Given the description of an element on the screen output the (x, y) to click on. 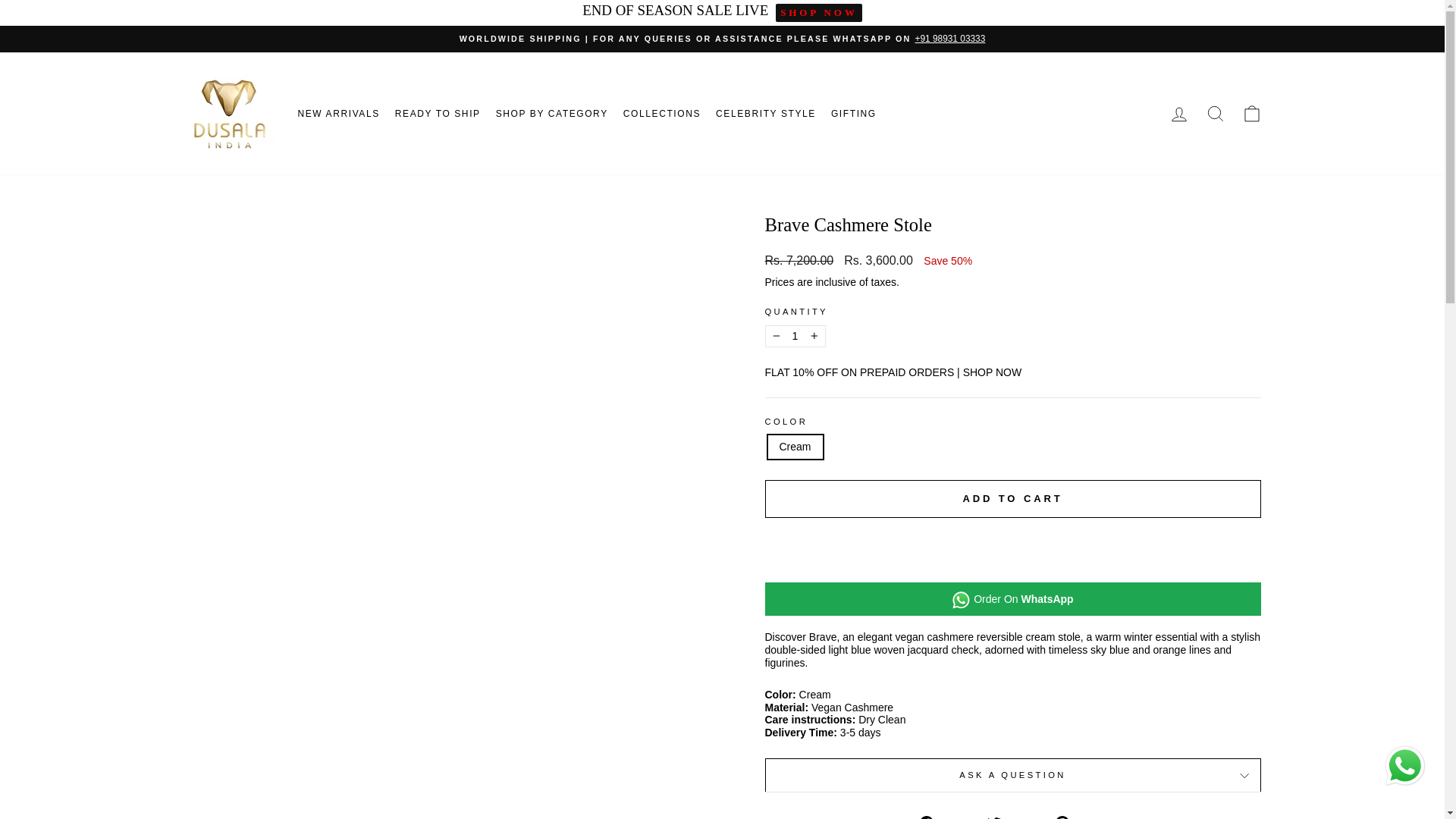
Share on Facebook (947, 816)
Pin on Pinterest (1080, 816)
1 (794, 336)
Tweet on Twitter (1014, 816)
